Given the description of an element on the screen output the (x, y) to click on. 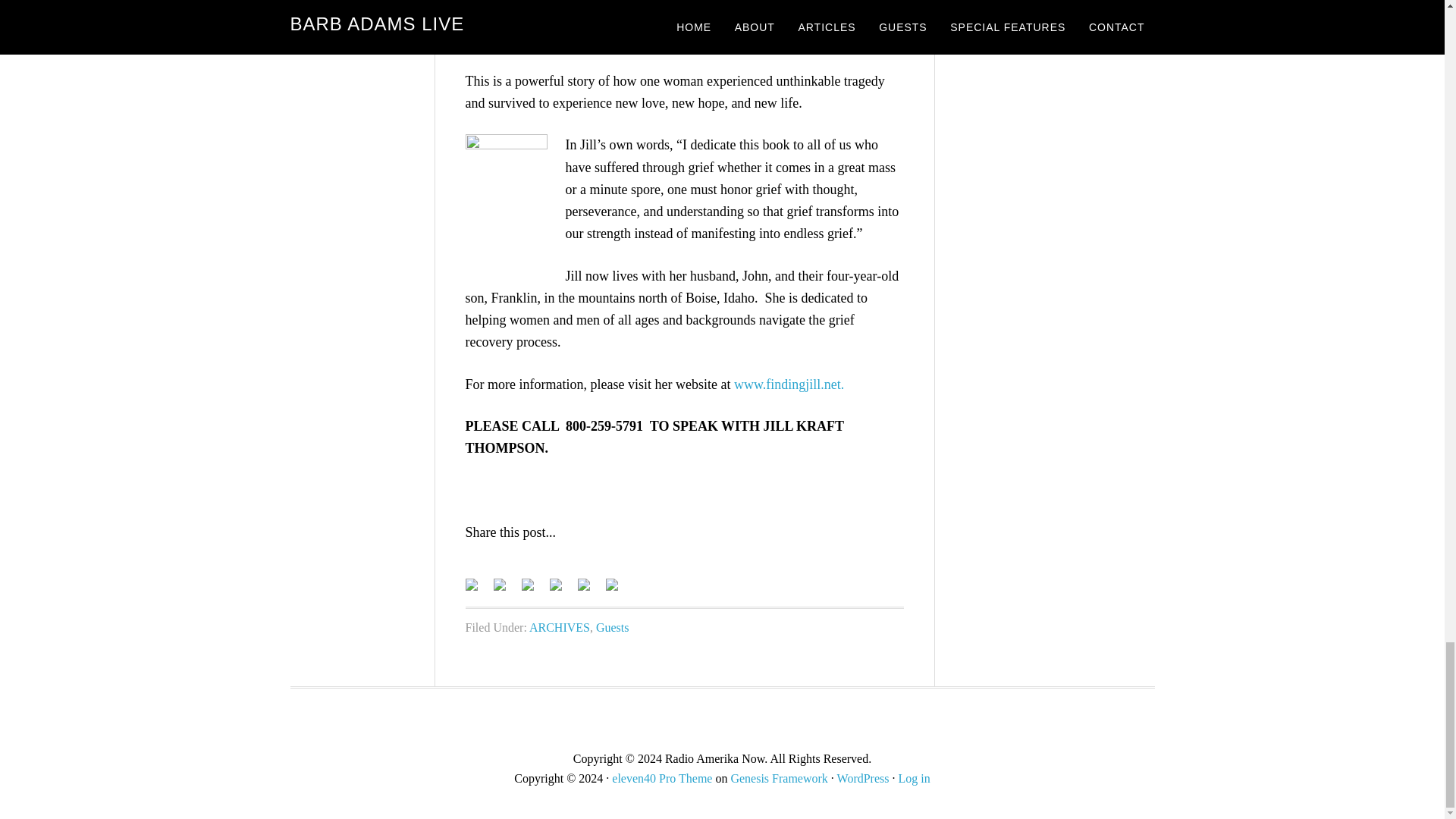
www.findingjill.net. (788, 384)
Share by email (616, 590)
Share on Linkedin (560, 590)
Share on Linkedin (554, 584)
Share on tumblr (590, 590)
Share on tumblr (583, 584)
Share on Facebook (471, 584)
Share on Reddit (533, 590)
Guests (611, 626)
Share on Twitter (499, 584)
ARCHIVES (559, 626)
Share on Facebook (477, 590)
Share on Reddit (527, 584)
Share on Twitter (504, 590)
Share by email (611, 584)
